Given the description of an element on the screen output the (x, y) to click on. 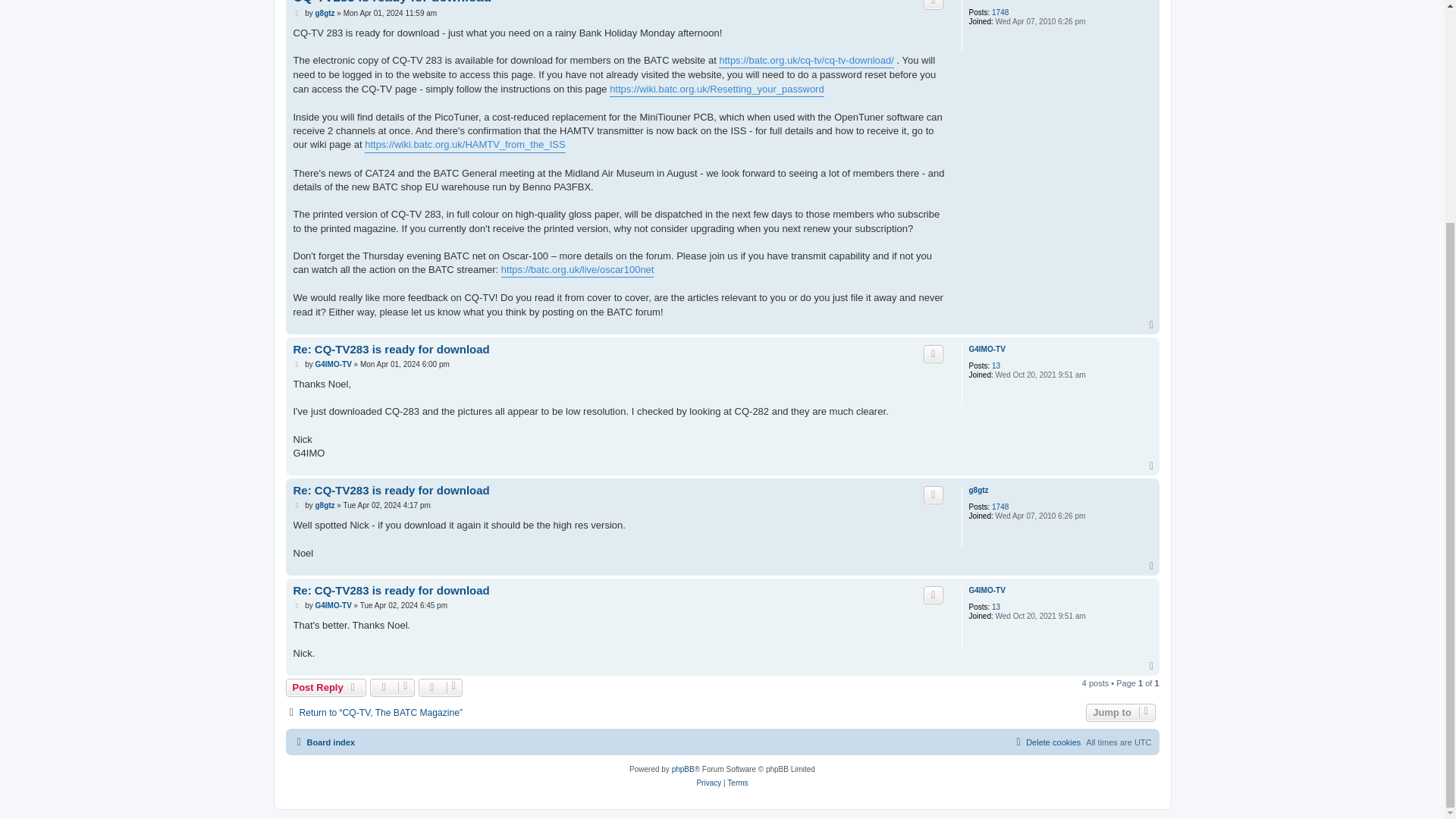
1748 (1000, 12)
Quote (933, 353)
Post (297, 13)
Top (1151, 325)
Re: CQ-TV283 is ready for download (390, 350)
Post (297, 364)
g8gtz (324, 13)
Quote (933, 4)
Reply with quote (933, 4)
Post (297, 13)
13 (995, 366)
G4IMO-TV (986, 348)
CQ-TV283 is ready for download (392, 2)
